Given the description of an element on the screen output the (x, y) to click on. 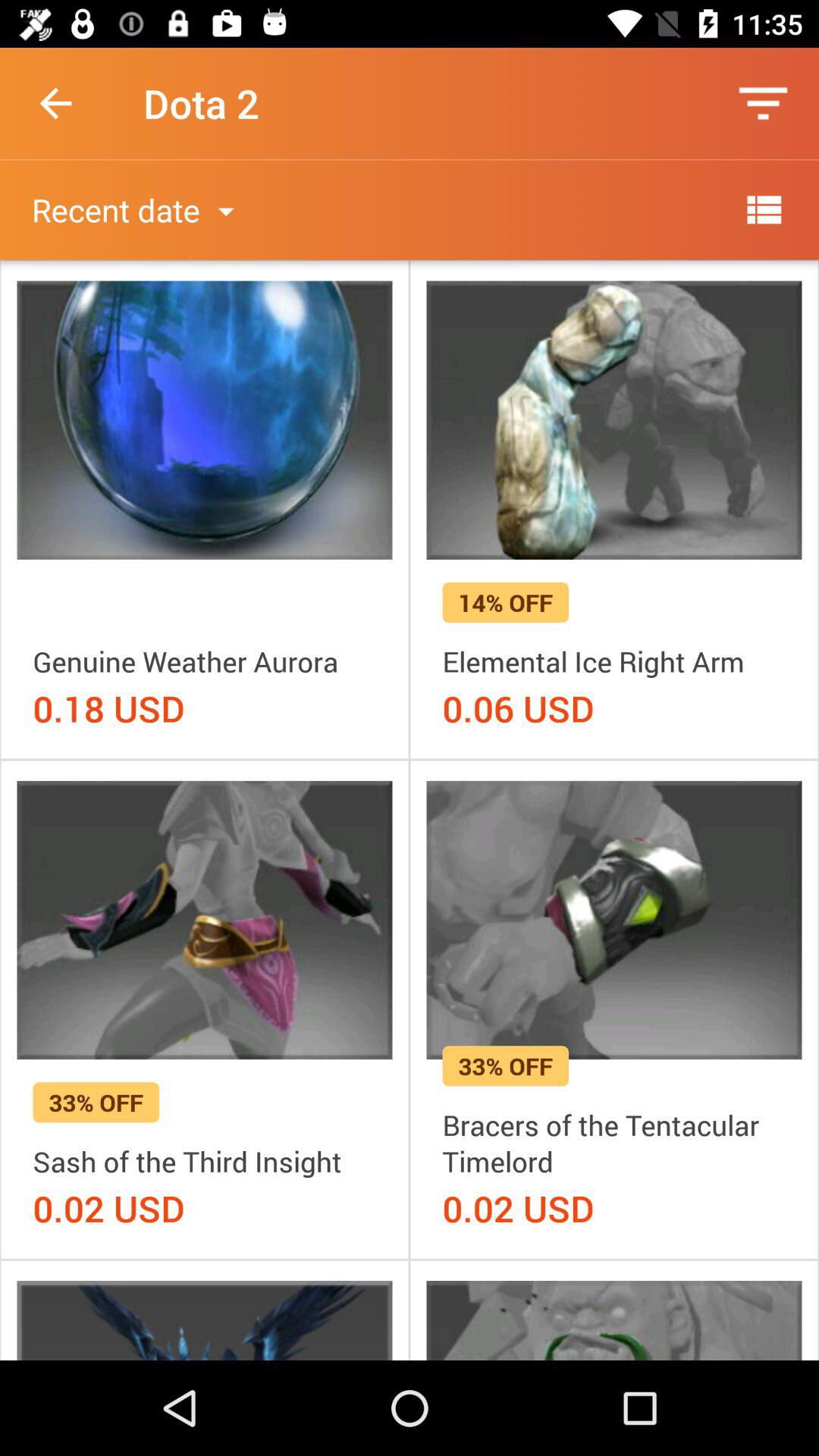
click icon to the right of the recent date item (763, 209)
